Given the description of an element on the screen output the (x, y) to click on. 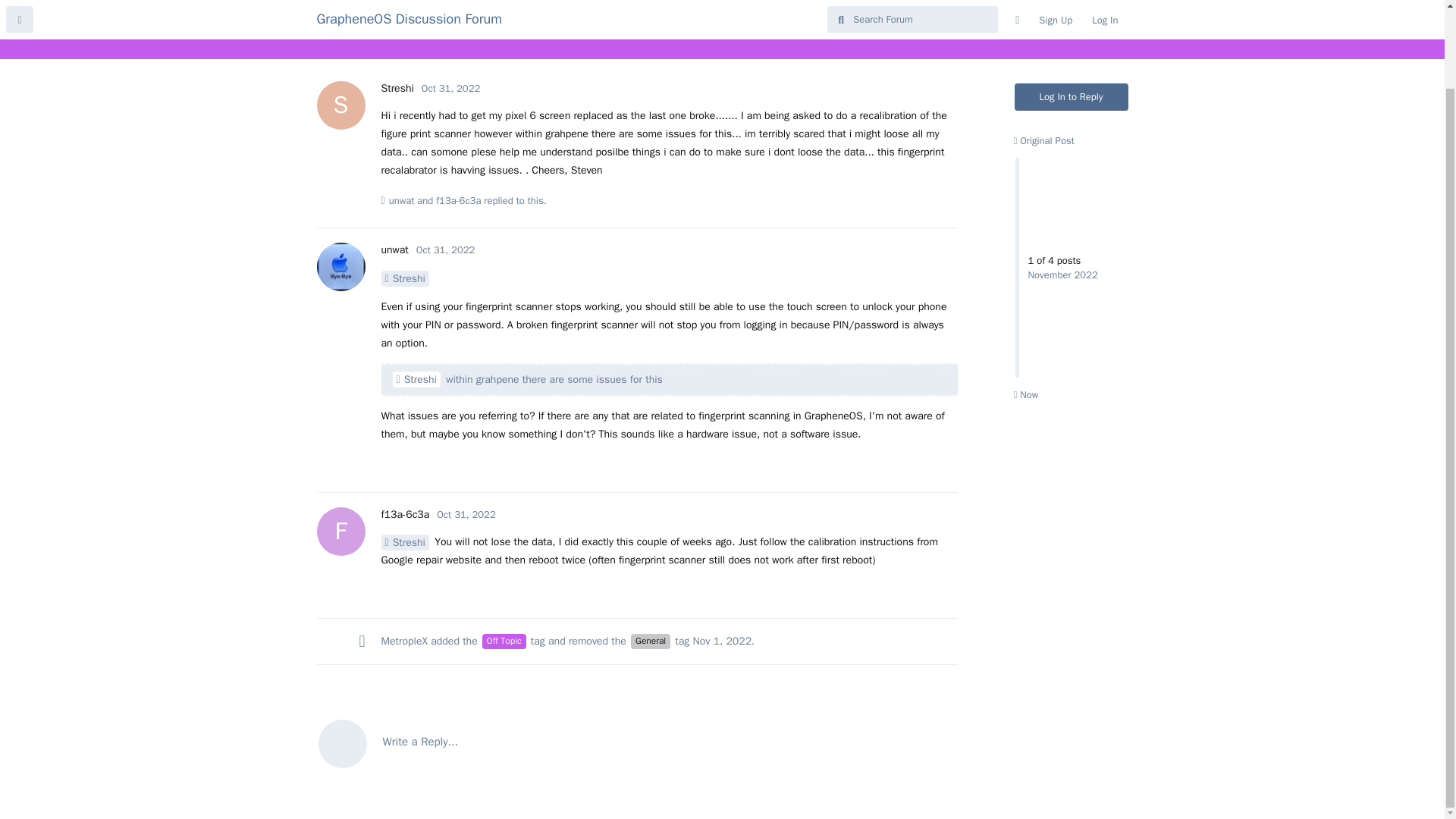
Off Topic (503, 641)
Oct 31, 2022 (465, 513)
Write a Reply... (636, 742)
Oct 31, 2022 (451, 88)
Monday, October 31, 2022 10:39 PM (451, 88)
General (649, 641)
unwat (393, 249)
unwat (401, 200)
Monday, October 31, 2022 11:00 PM (445, 249)
